Given the description of an element on the screen output the (x, y) to click on. 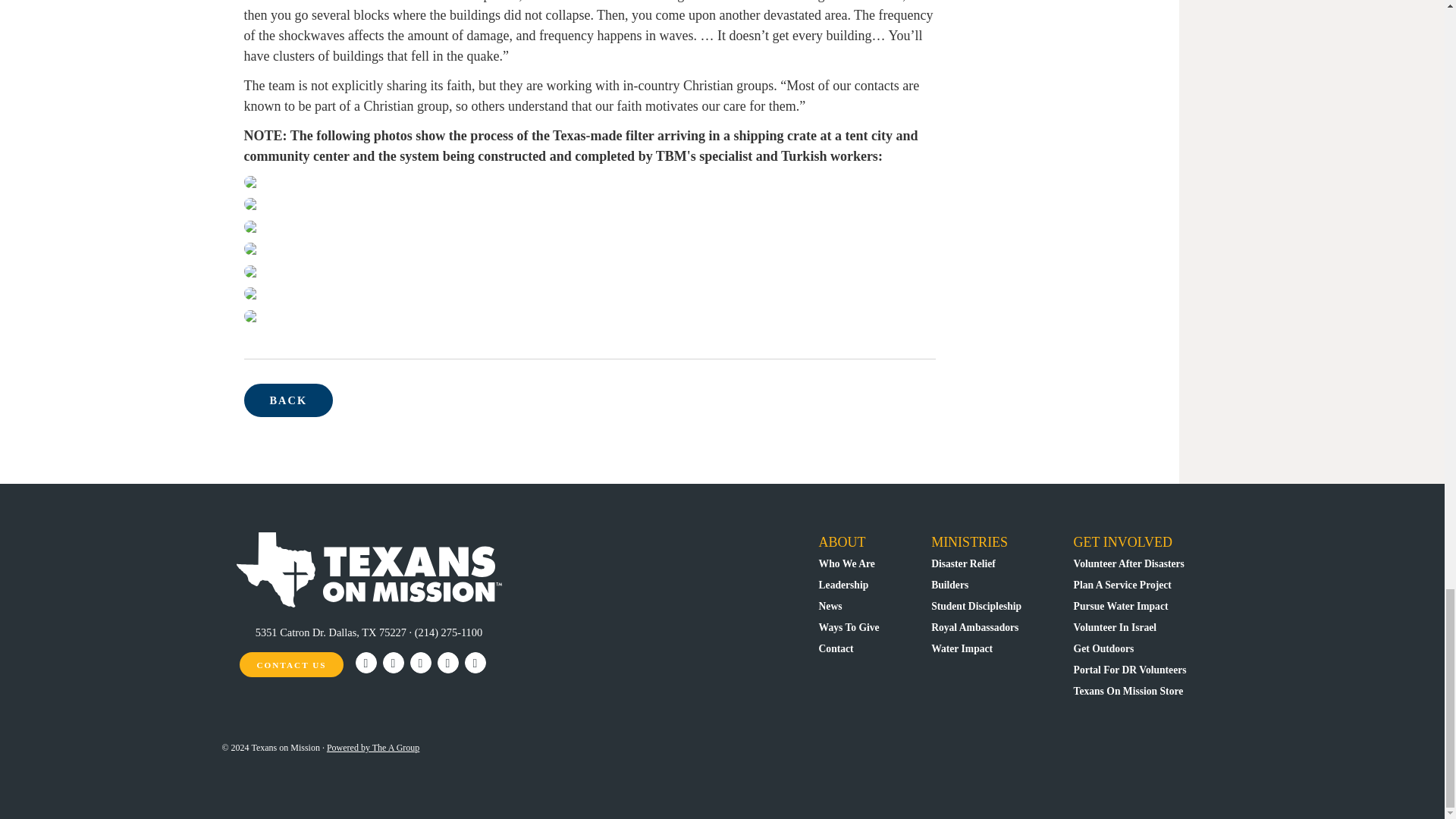
ABOUT (842, 541)
MINISTRIES (969, 541)
Leadership (843, 584)
Who We Are (846, 563)
News (830, 605)
BACK (288, 400)
Contact (835, 648)
Ways To Give (848, 627)
Disaster Relief (963, 563)
